Given the description of an element on the screen output the (x, y) to click on. 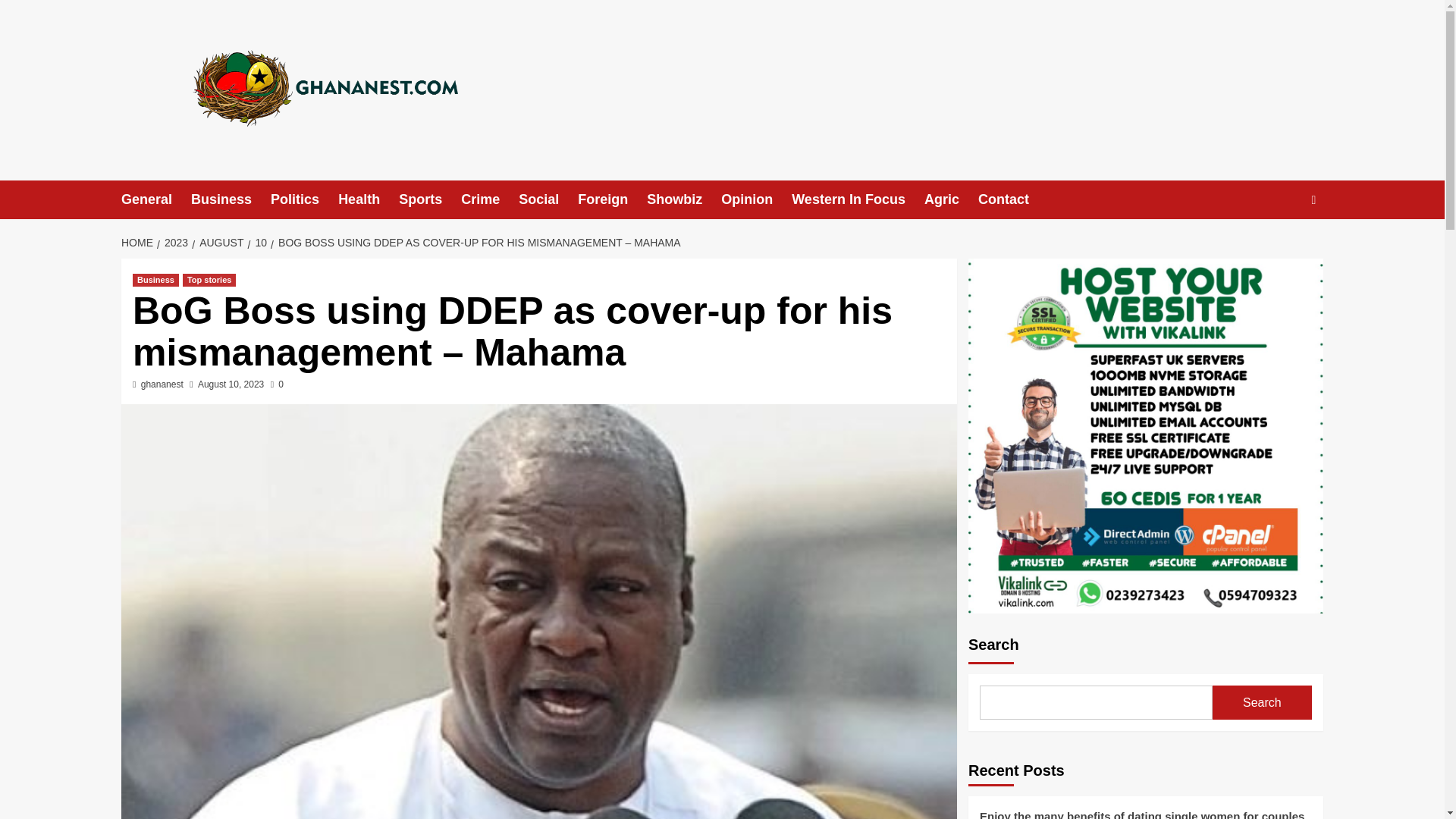
August 10, 2023 (230, 384)
Sports (429, 199)
Social (548, 199)
HOME (138, 242)
Politics (303, 199)
General (155, 199)
Western In Focus (858, 199)
Health (367, 199)
Agric (951, 199)
Foreign (612, 199)
